Given the description of an element on the screen output the (x, y) to click on. 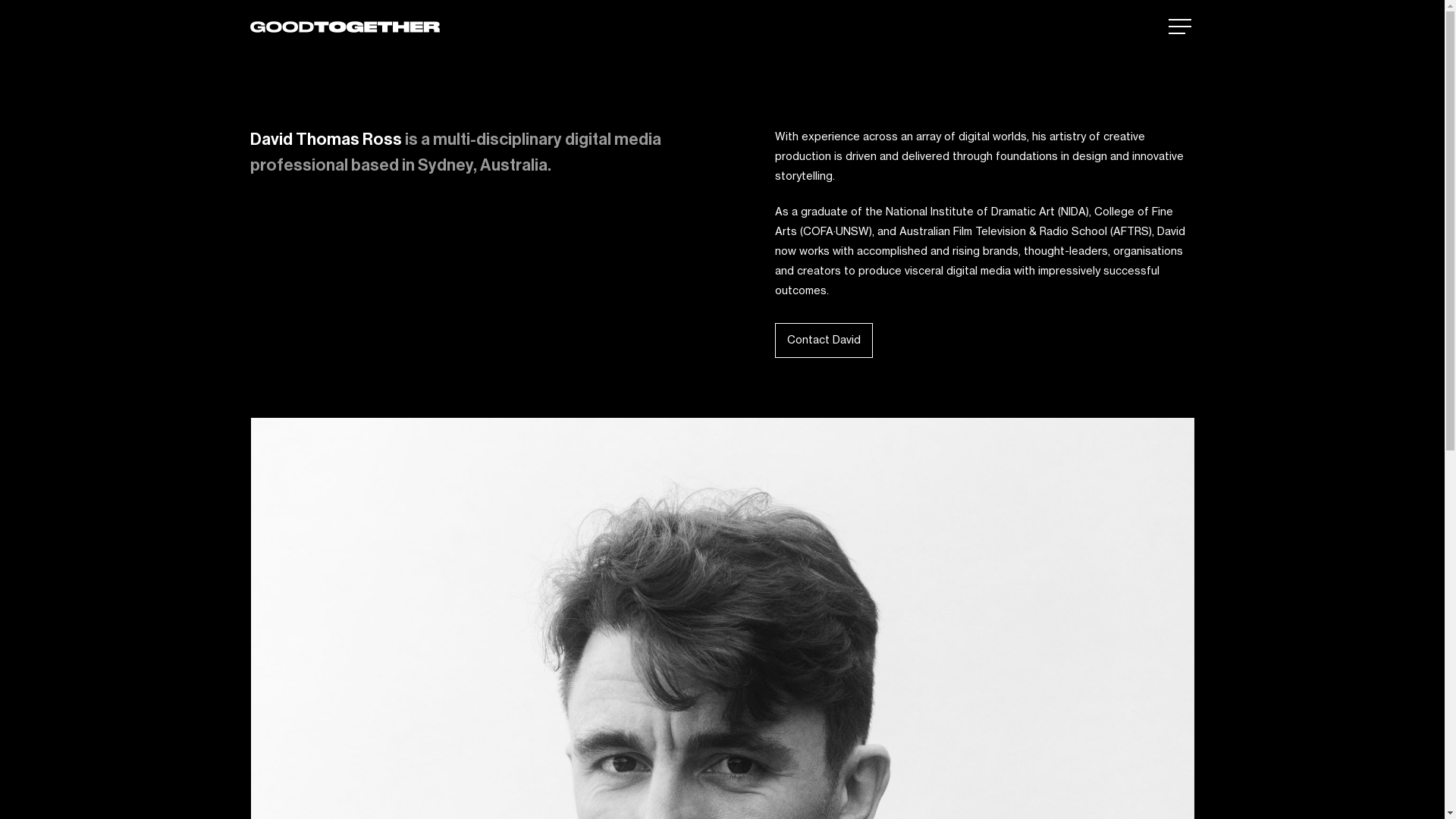
Contact David Element type: text (823, 339)
Menu Element type: text (1181, 26)
